Given the description of an element on the screen output the (x, y) to click on. 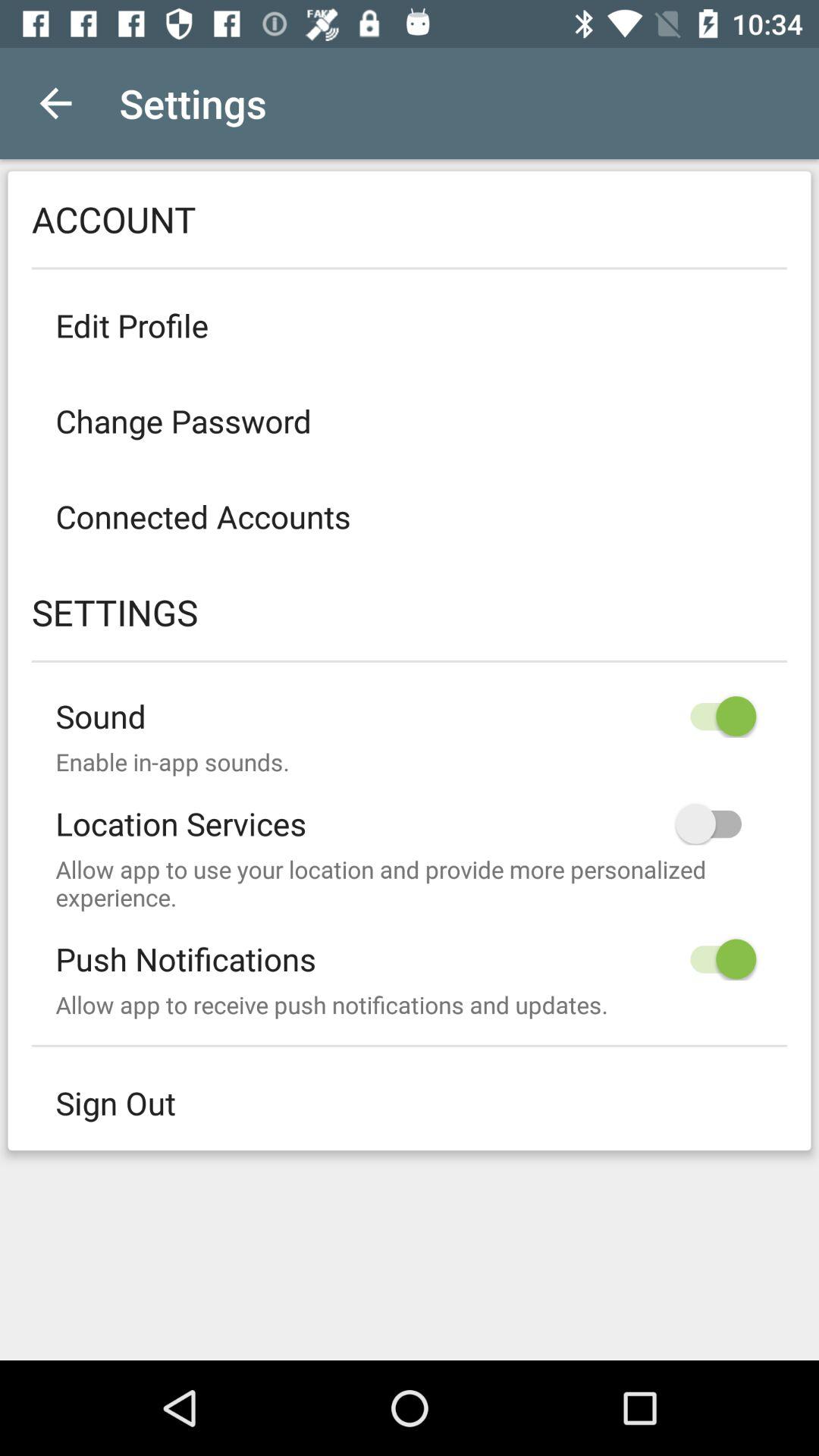
open icon above the connected accounts (409, 420)
